Given the description of an element on the screen output the (x, y) to click on. 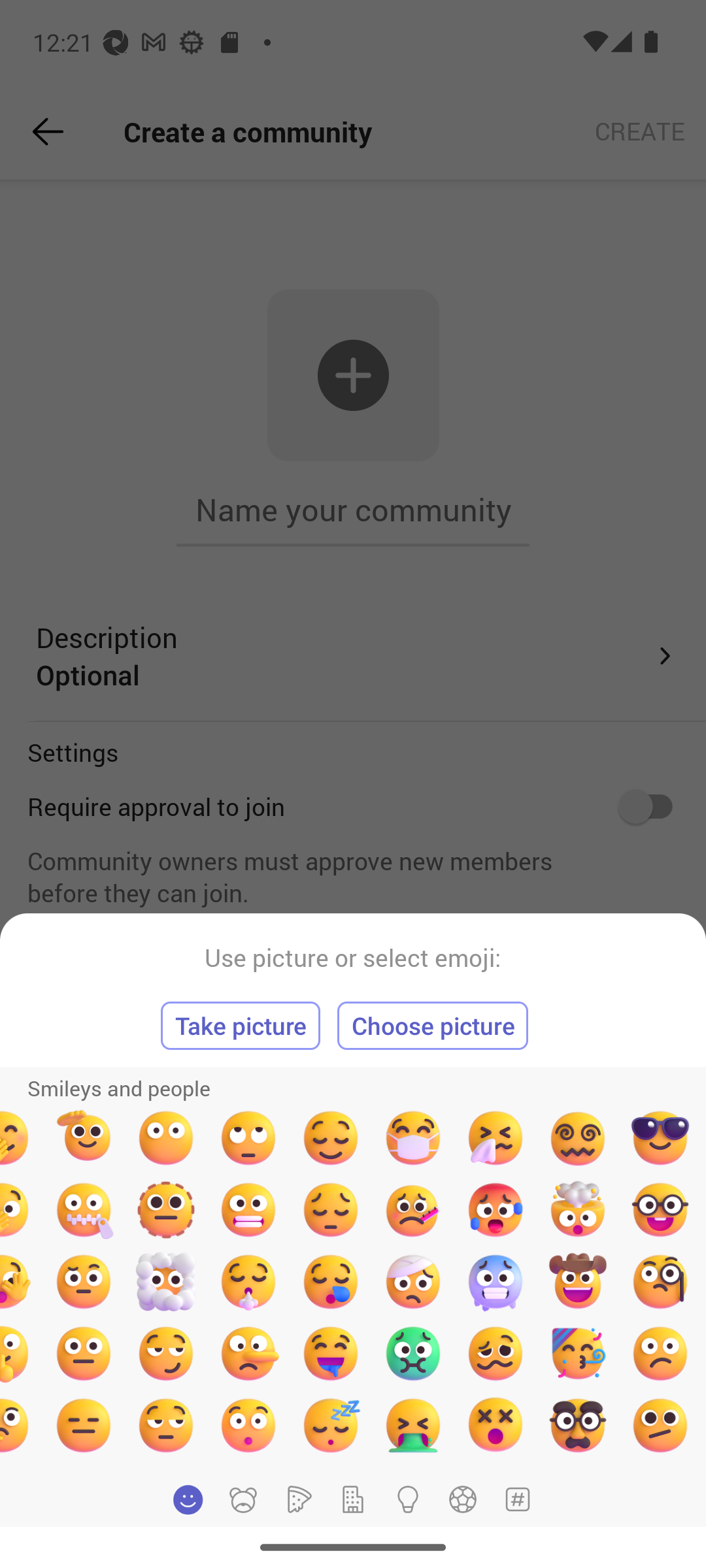
Take picture (240, 1025)
Choose picture (432, 1025)
Saluting face emoji (83, 1138)
Face without mouth emoji (165, 1138)
Dull emoji (248, 1138)
Relieved emoji (330, 1138)
Face with medical mask emoji (413, 1138)
Sneezing face emoji (495, 1138)
Face with spiral eyes emoji (577, 1138)
Cool emoji (660, 1138)
Zipper mouth face emoji (83, 1210)
Dotted line face emoji (165, 1210)
Grimacing face emoji (248, 1210)
Pensive emoji (330, 1210)
Ill emoji (413, 1210)
Hotface emoji (495, 1210)
Exploding head emoji (577, 1210)
Nerdy emoji (660, 1210)
Wondering emoji (83, 1281)
Face in clouds emoji (165, 1281)
Face exhaling emoji (248, 1281)
Sleepy emoji (330, 1281)
Face with head bandage emoji (413, 1281)
Cold shivering emoji (495, 1281)
Face with cowboy hat emoji (577, 1281)
Face with monocle emoji (660, 1281)
Speechless emoji (83, 1353)
Smirking emoji (165, 1353)
Lying face emoji (248, 1353)
Drooling face emoji (330, 1353)
Nauseated face emoji (413, 1353)
Morning after party emoji (495, 1353)
Party emoji (577, 1353)
Confused emoji (660, 1353)
Expressionless emoji (83, 1425)
Unamused emoji (165, 1425)
Shaking Head emoji (248, 1425)
Sleeping face emoji (330, 1425)
Vomiting emoji (413, 1425)
Dizzy face emoji (495, 1425)
Disguised face emoji (577, 1425)
Face with diagonal mouth emoji (660, 1425)
Smileys and people, selected (188, 1499)
Animals, not selected (243, 1499)
Food, not selected (297, 1499)
Travel and places, not selected (352, 1499)
Objects, not selected (407, 1499)
Activities, not selected (462, 1499)
Symbols, not selected (517, 1499)
